Given the description of an element on the screen output the (x, y) to click on. 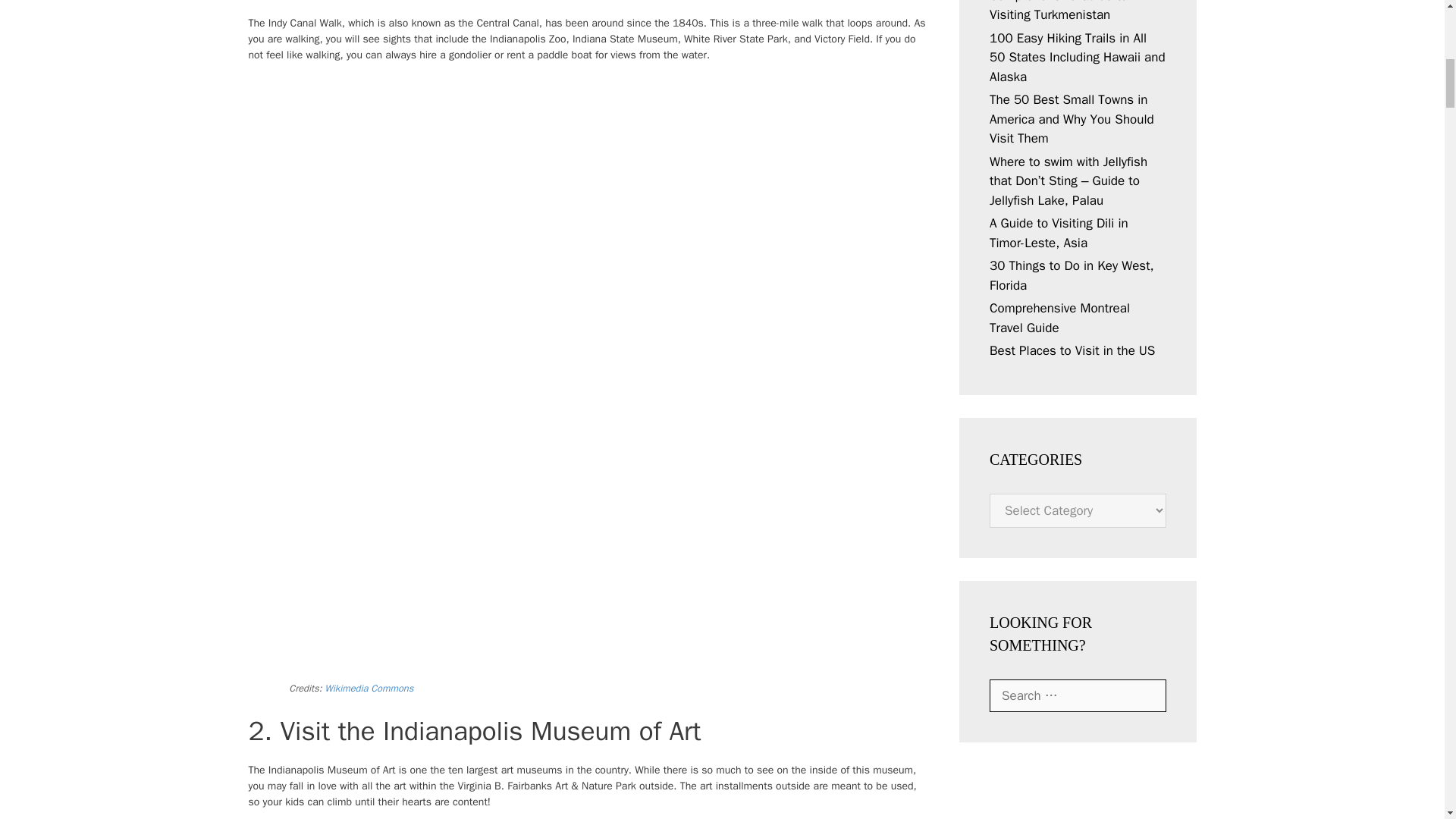
Wikimedia Commons (368, 688)
Search for: (1078, 695)
Scroll back to top (1406, 720)
